Given the description of an element on the screen output the (x, y) to click on. 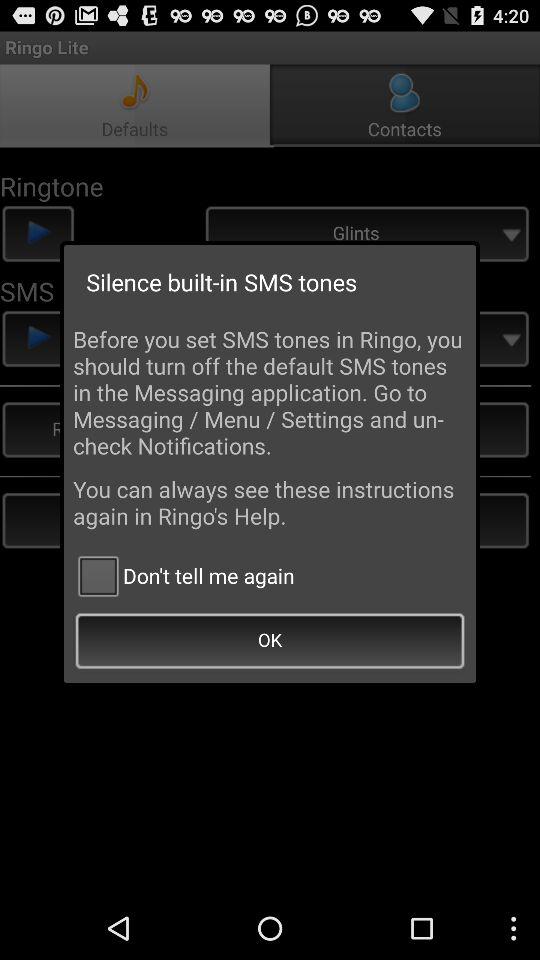
open the icon below the don t tell icon (269, 641)
